Given the description of an element on the screen output the (x, y) to click on. 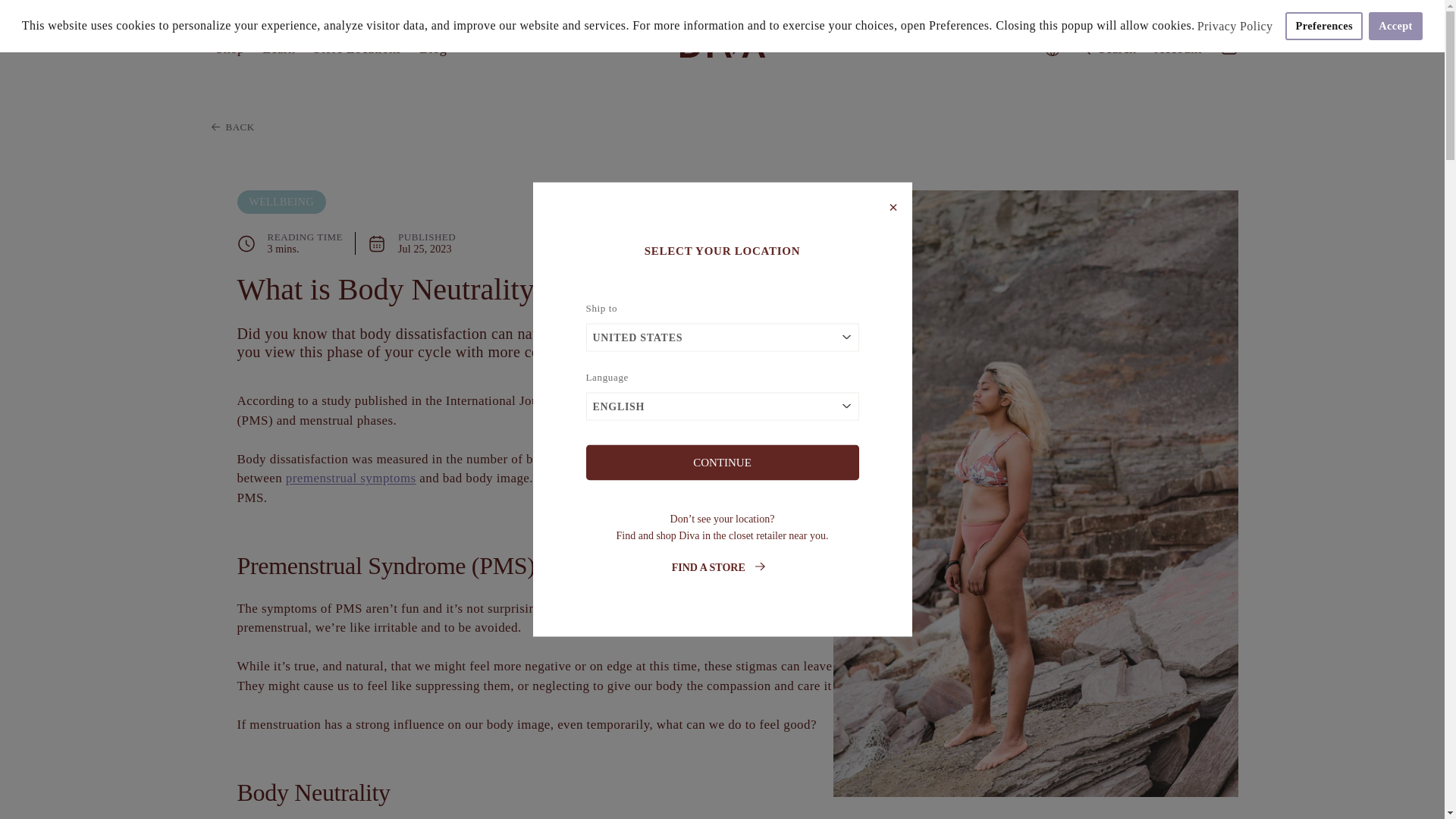
Learn (278, 47)
Blog (432, 47)
Shop (229, 47)
Store Locations (357, 47)
Search (1106, 47)
Account (1176, 47)
CONTINUE (722, 461)
